Given the description of an element on the screen output the (x, y) to click on. 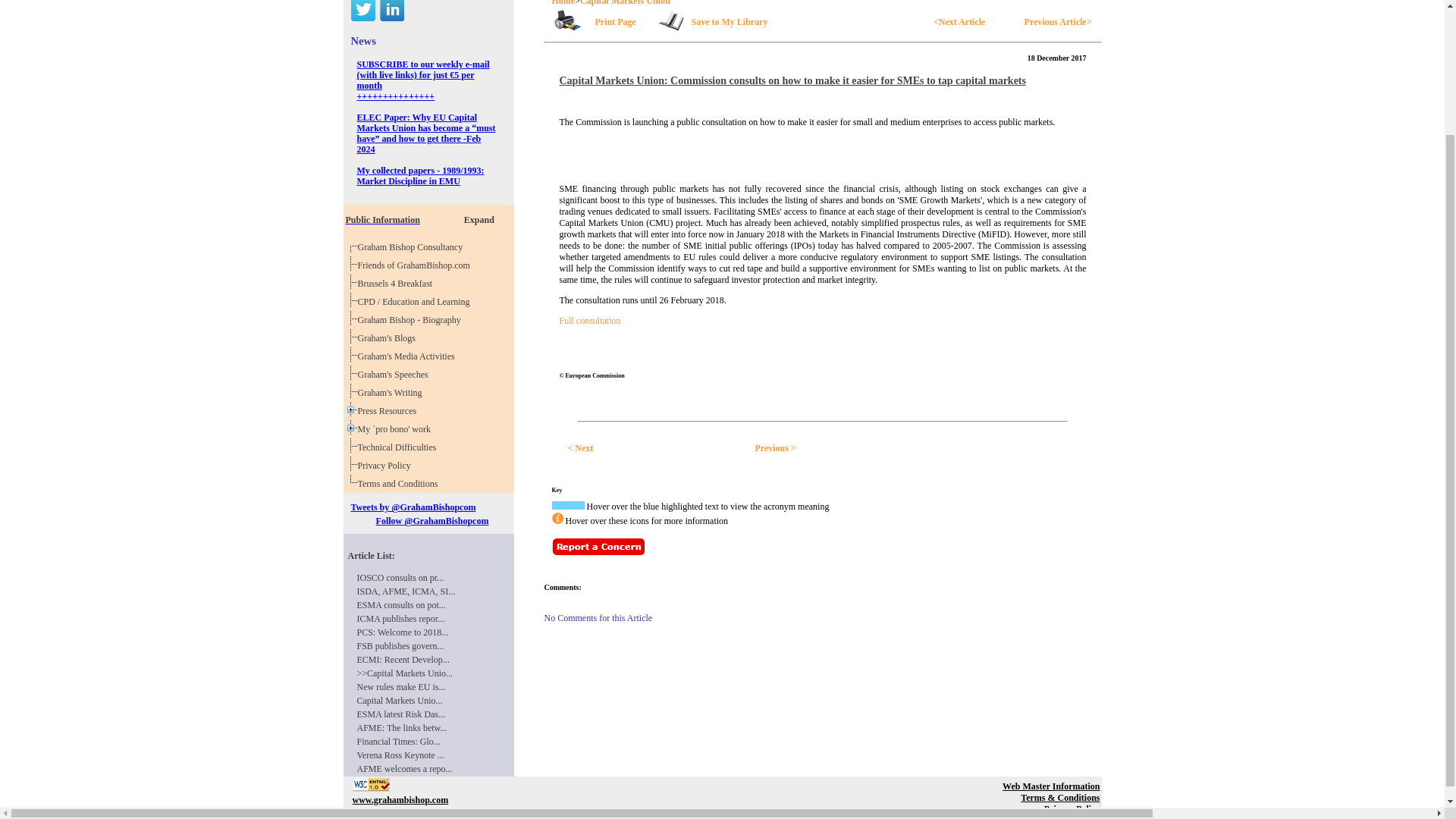
Graham's Blogs   (389, 337)
Graham Bishop - Biography   (411, 319)
Graham's Media Activities   (427, 215)
Brussels 4 Breakfast   (409, 356)
Graham's Speeches   (398, 283)
Graham Bishop Consultancy   (395, 374)
Join the "Brussels" Finance Watchers (412, 246)
Privacy Policy for GrahamBishop.com (398, 283)
Expand (386, 465)
Terms and Conditions for use of GrahamBishop.com (479, 220)
Follow us on LinkedIn (400, 483)
Graham's Writing   (390, 10)
Friends of GrahamBishop.com   (392, 392)
